Given the description of an element on the screen output the (x, y) to click on. 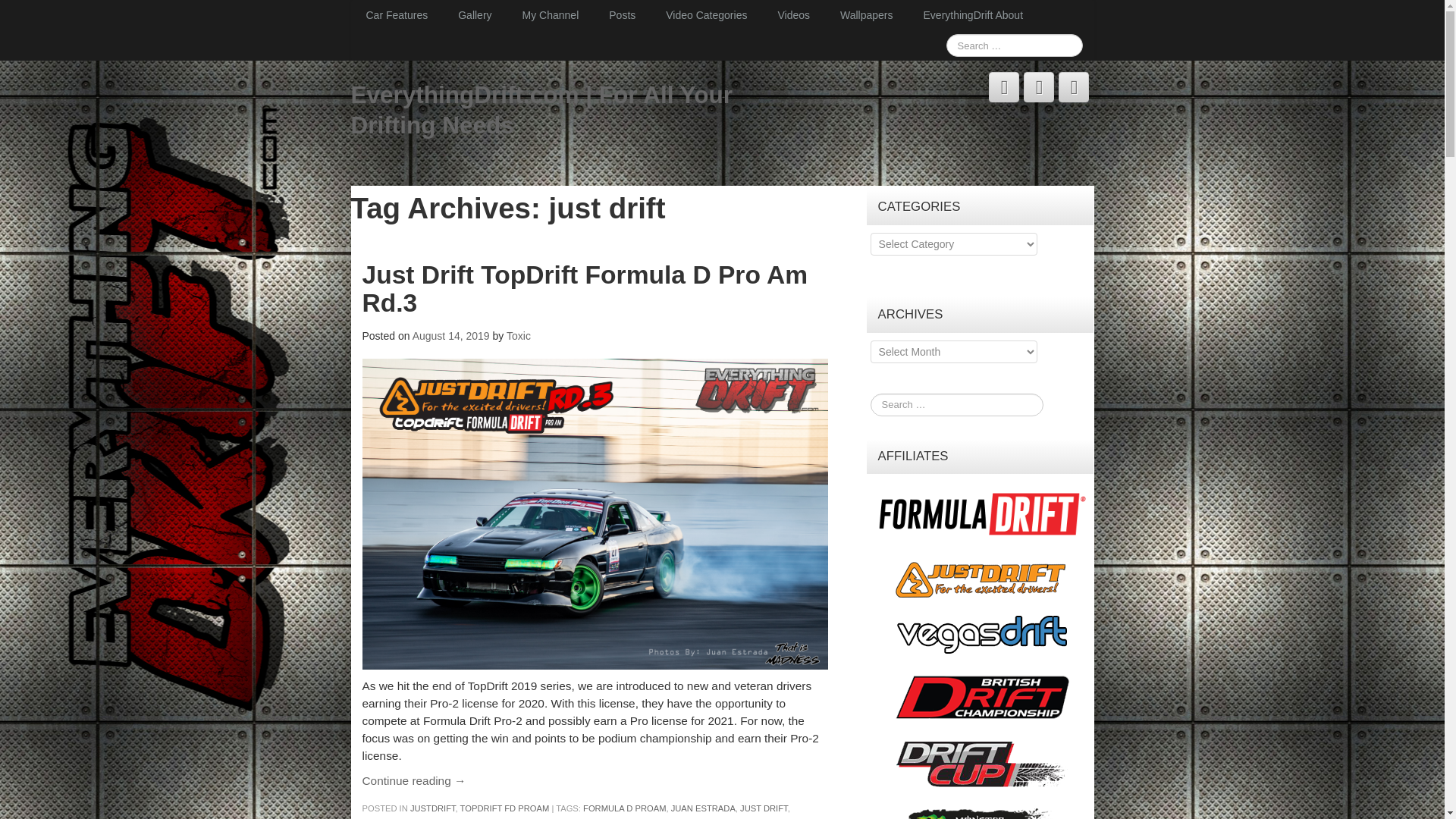
View all posts by Toxic (518, 336)
Posts (622, 15)
TOPDRIFT FD PROAM (505, 808)
Gallery (474, 15)
My Channel (550, 15)
JUST DRIFT (763, 808)
Car Features (396, 15)
Wallpapers (866, 15)
August 14, 2019 (452, 336)
Toxic (518, 336)
